Given the description of an element on the screen output the (x, y) to click on. 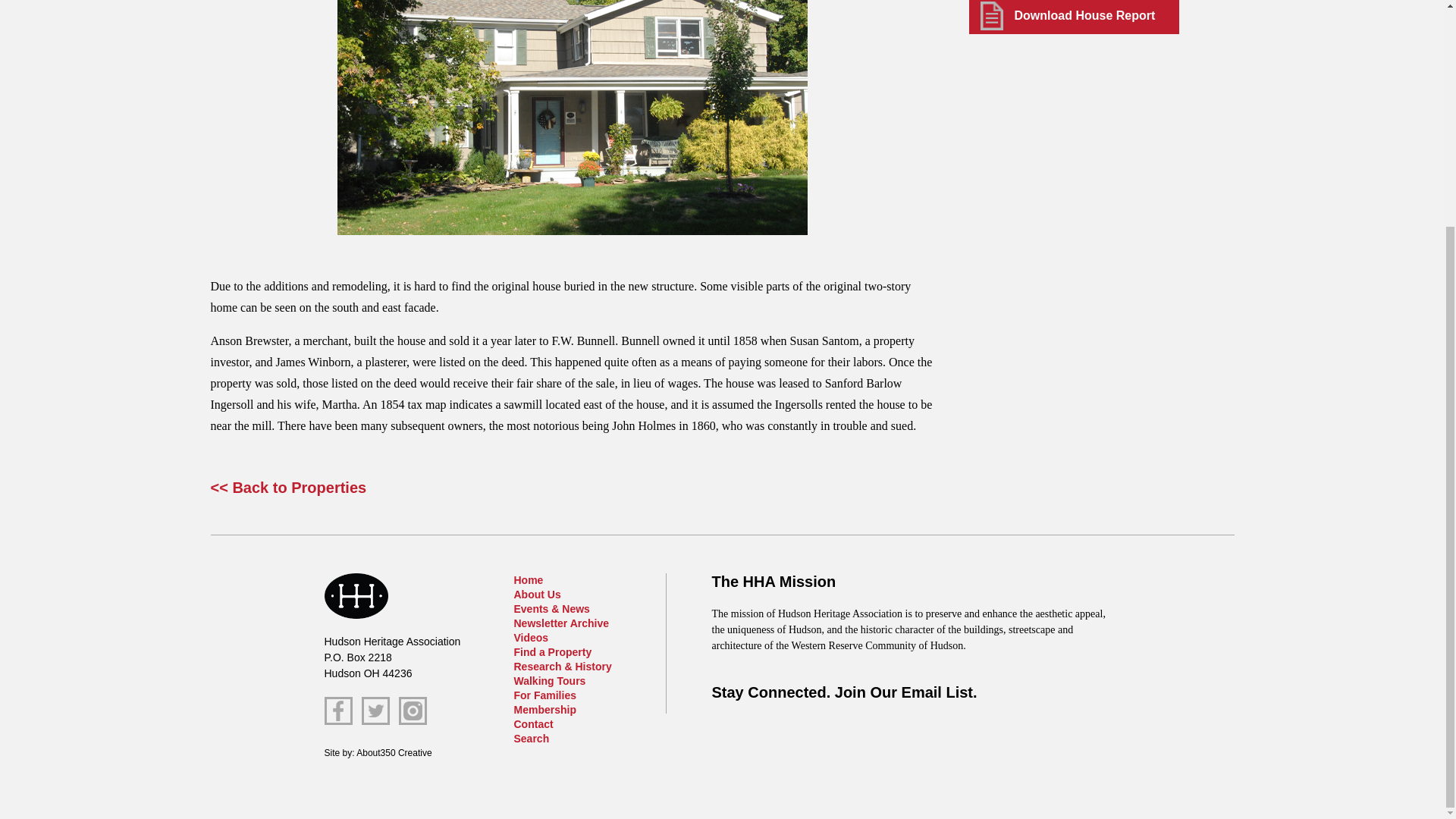
Instagram (412, 710)
About350 Creative (393, 752)
Hudson Heritage Association (356, 596)
Twitter (374, 710)
Facebook (338, 710)
Download House Report (1074, 17)
